Given the description of an element on the screen output the (x, y) to click on. 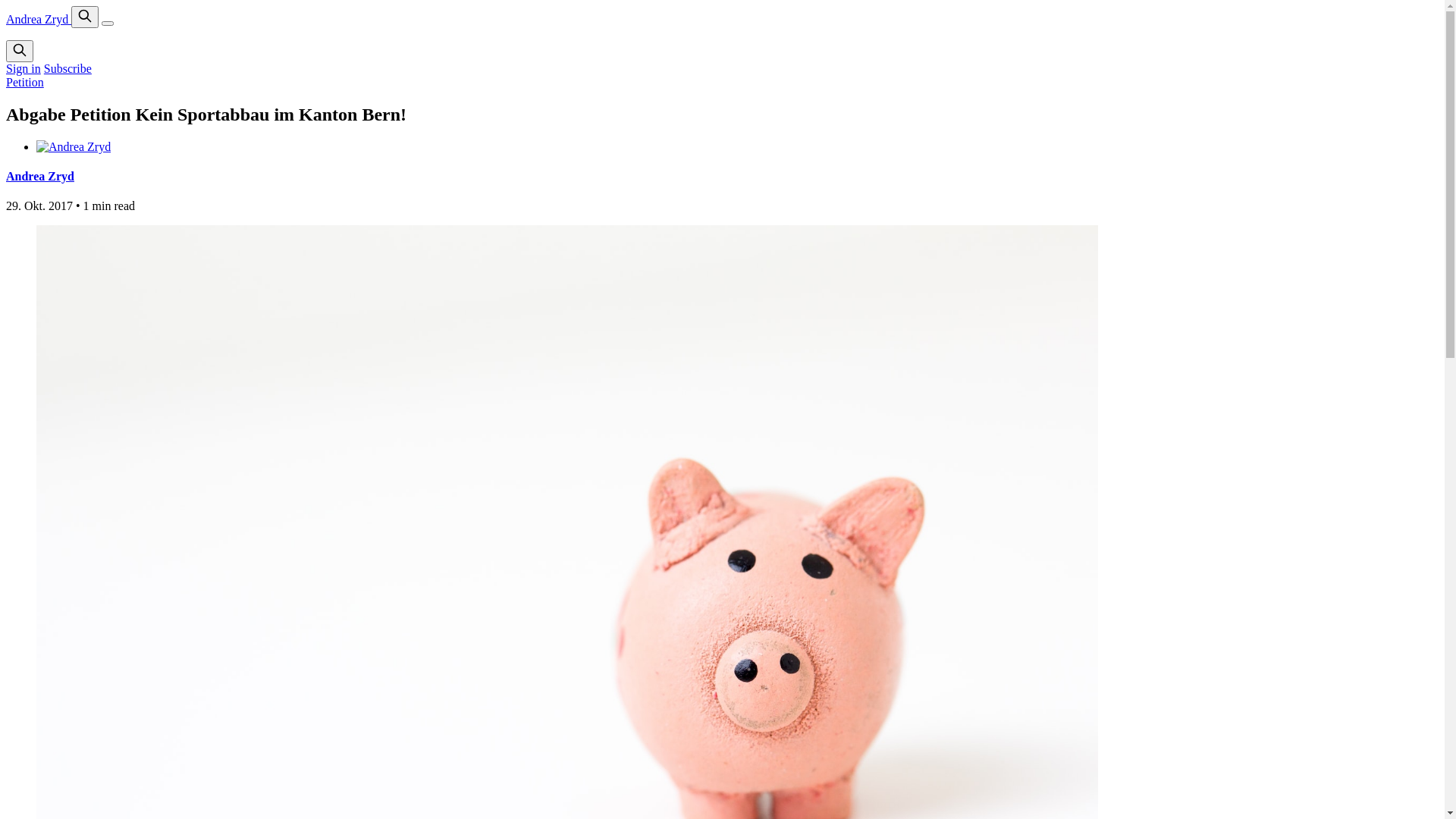
Andrea Zryd Element type: text (40, 175)
Andrea Zryd Element type: text (38, 18)
Subscribe Element type: text (67, 68)
Petition Element type: text (24, 81)
Sign in Element type: text (23, 68)
